Given the description of an element on the screen output the (x, y) to click on. 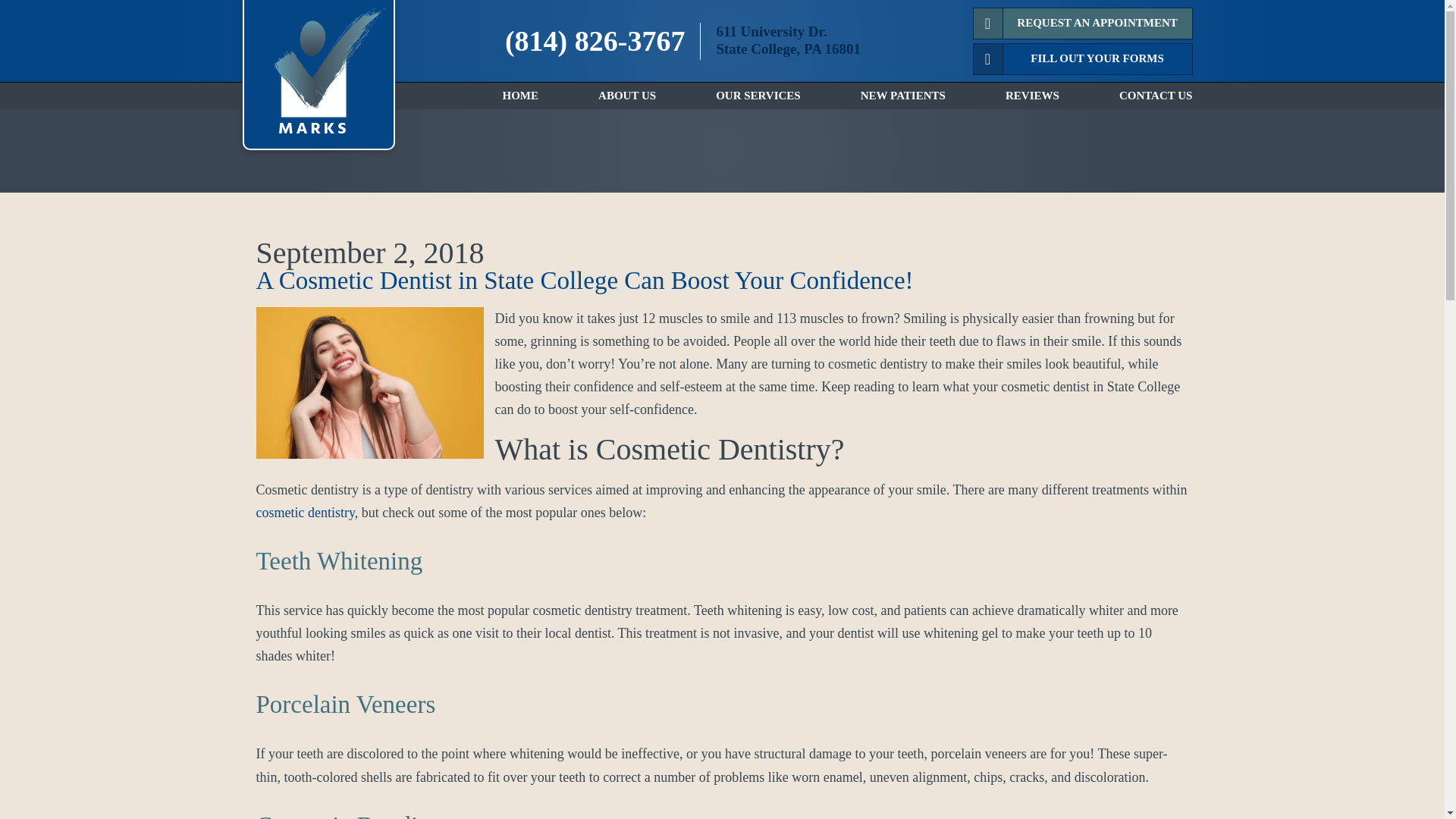
FILL OUT YOUR FORMS (1082, 58)
OUR SERVICES (757, 95)
REQUEST AN APPOINTMENT (1082, 23)
ABOUT US (627, 95)
NEW PATIENTS (903, 95)
HOME (520, 95)
